Given the description of an element on the screen output the (x, y) to click on. 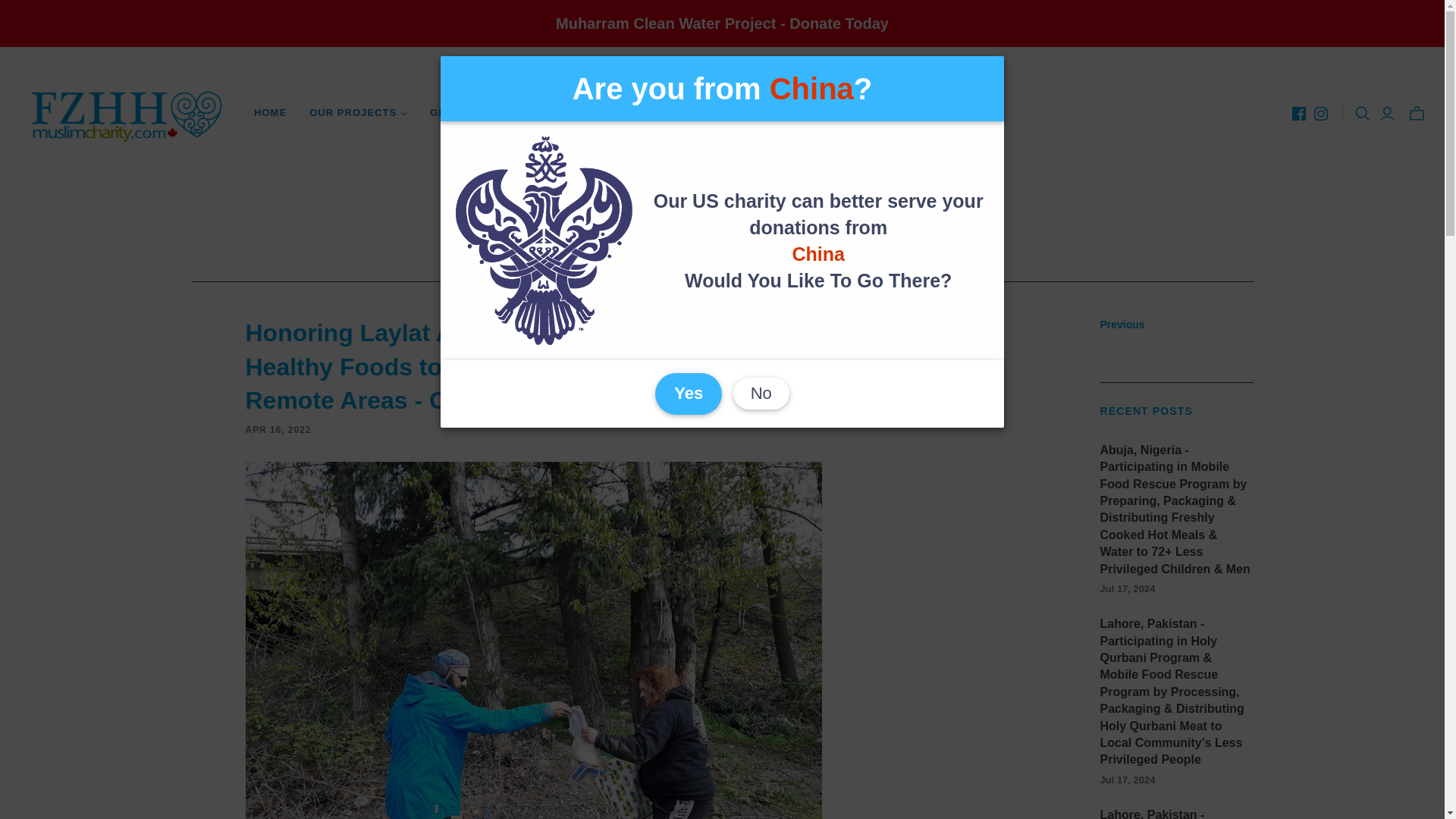
HAPPENING NOW (685, 113)
HOME (270, 113)
